Given the description of an element on the screen output the (x, y) to click on. 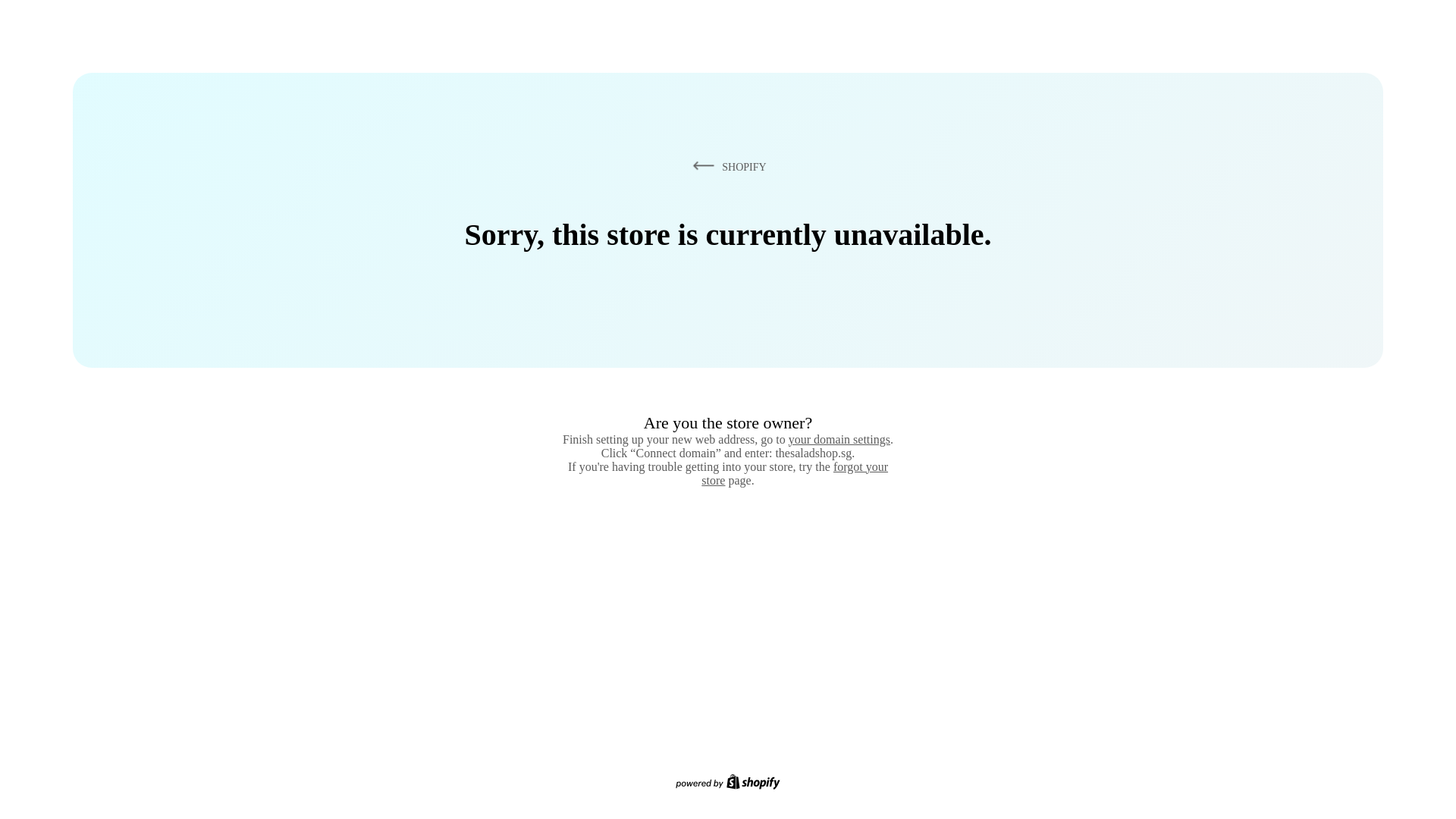
forgot your store (794, 473)
your domain settings (839, 439)
SHOPIFY (726, 166)
